Given the description of an element on the screen output the (x, y) to click on. 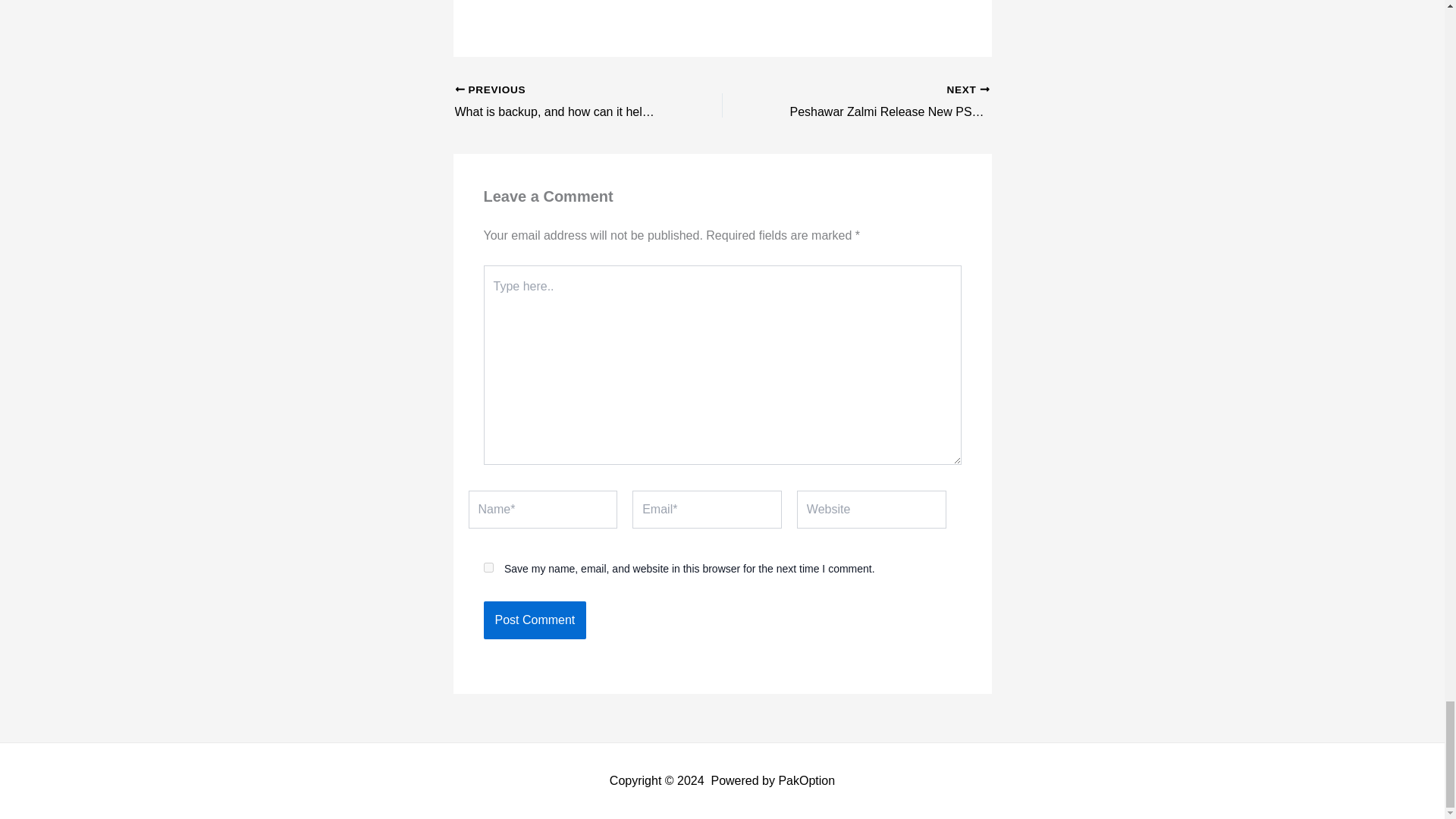
Post Comment (534, 620)
Post Comment (561, 102)
What is backup, and how can it help you relax? (534, 620)
yes (561, 102)
